Given the description of an element on the screen output the (x, y) to click on. 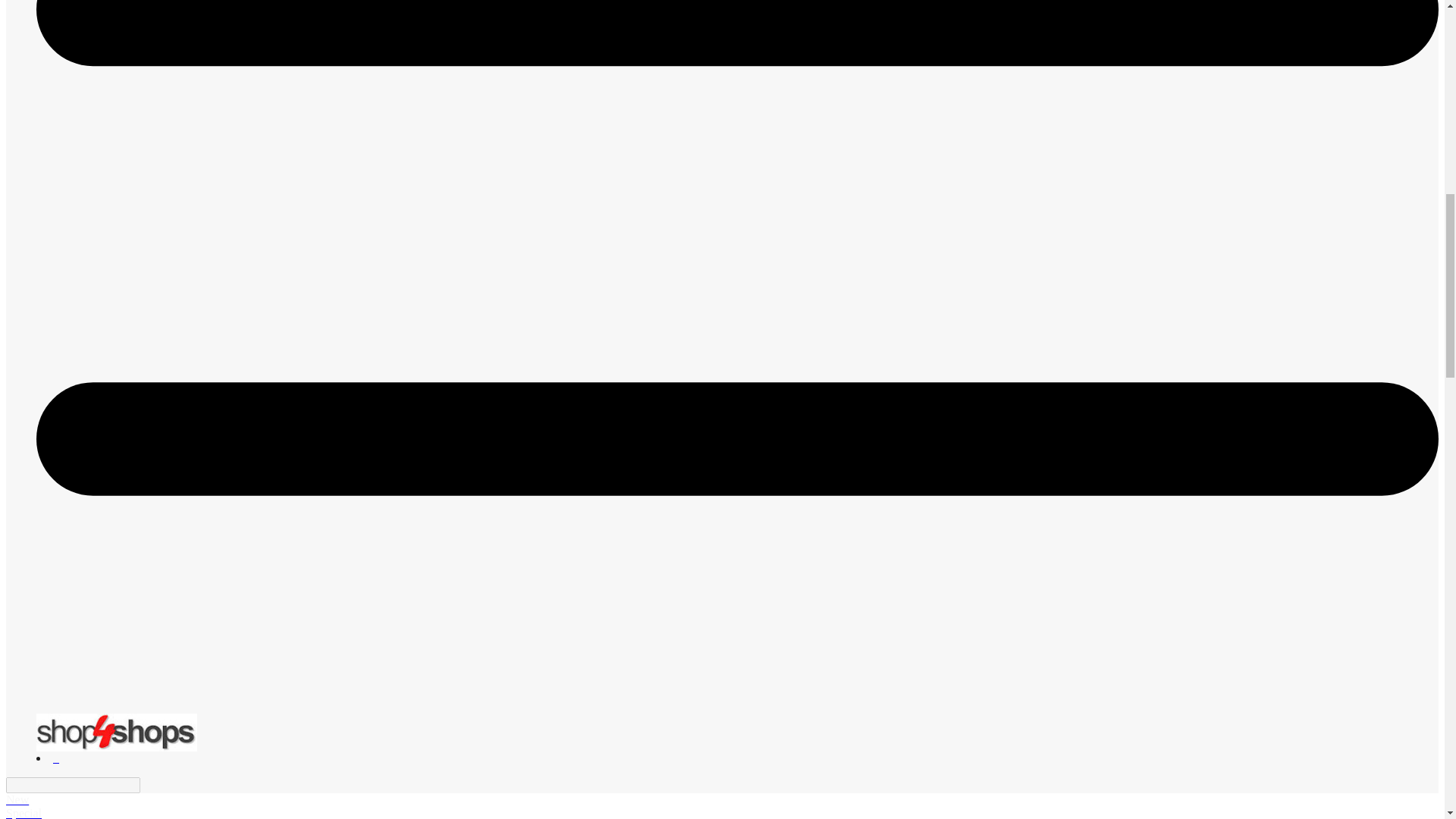
shop4shops logo (116, 732)
Find (148, 784)
